Given the description of an element on the screen output the (x, y) to click on. 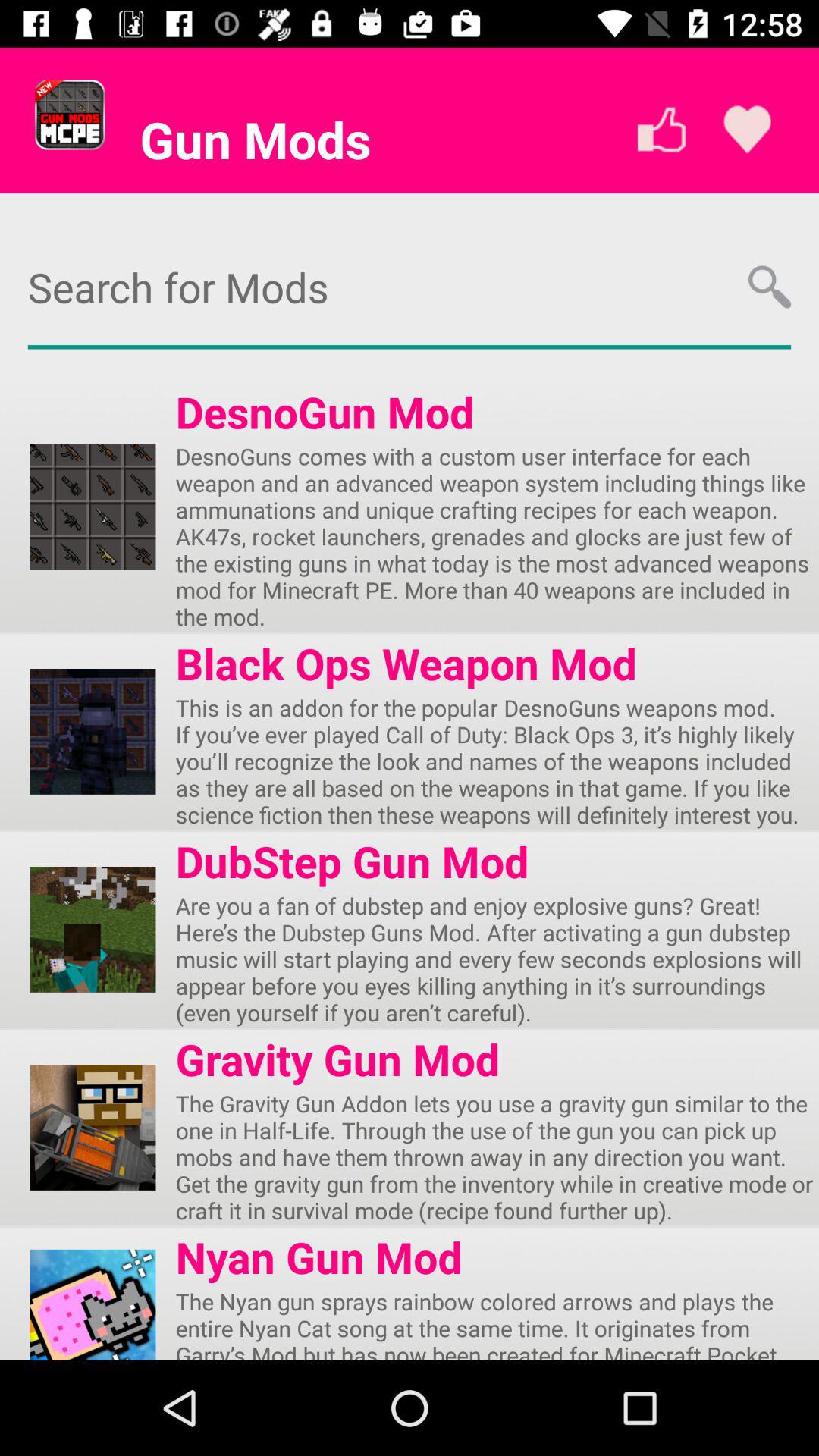
turn off the icon above black ops weapon app (497, 535)
